Given the description of an element on the screen output the (x, y) to click on. 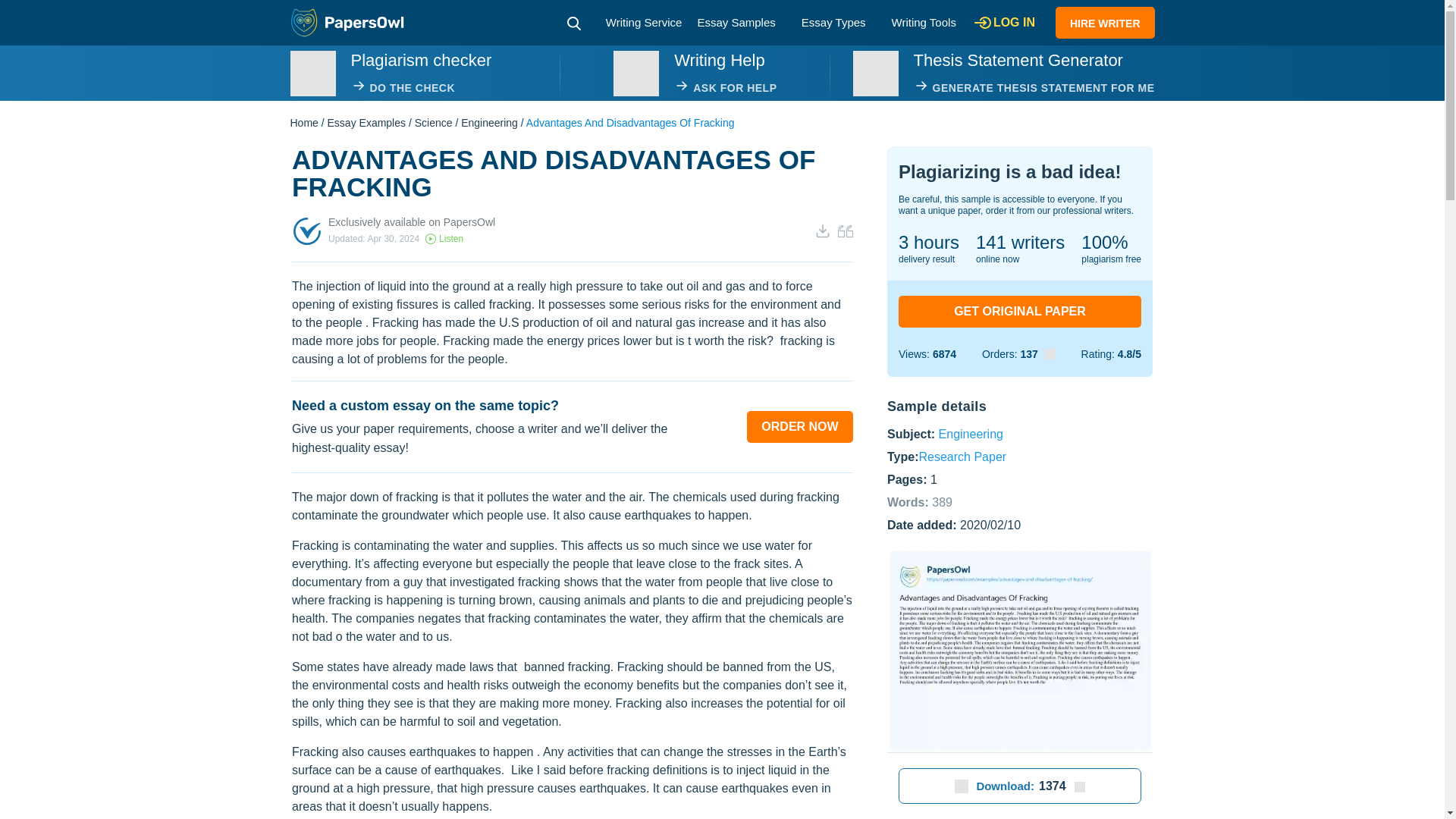
image (311, 72)
image (635, 72)
Writing Service (643, 21)
Advantages and Disadvantages of Fracking (1019, 650)
image (875, 72)
